Given the description of an element on the screen output the (x, y) to click on. 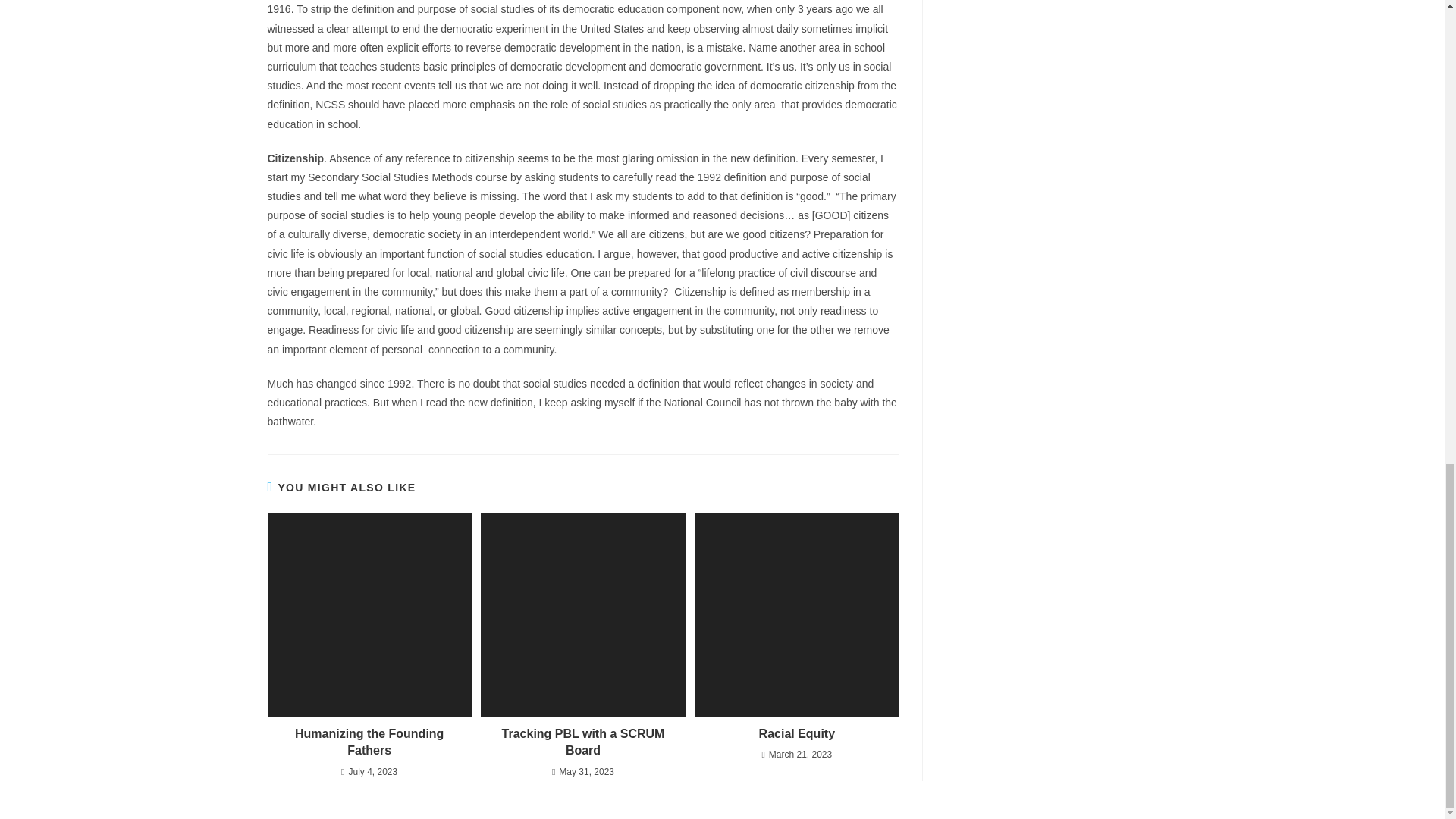
Racial Equity (796, 733)
Humanizing the Founding Fathers (368, 742)
Tracking PBL with a SCRUM Board (582, 742)
